Given the description of an element on the screen output the (x, y) to click on. 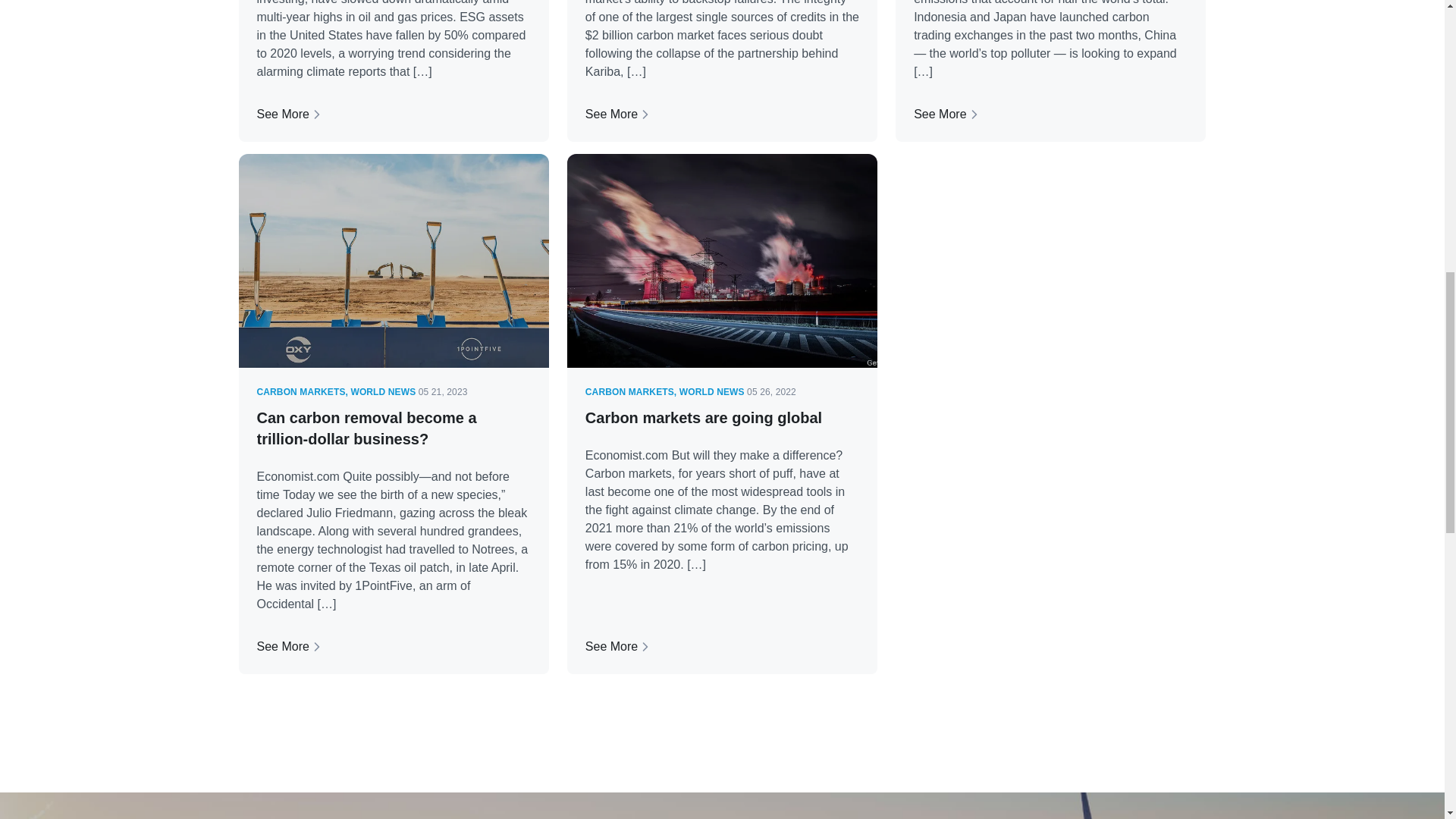
WORLD NEWS (382, 391)
See More (392, 114)
See More (1051, 114)
See More (722, 114)
CARBON MARKETS (300, 391)
CARBON MARKETS (629, 391)
See More (722, 647)
Can carbon removal become a trillion-dollar business? (366, 428)
See More (392, 647)
WORLD NEWS (711, 391)
Carbon markets are going global (703, 417)
